Given the description of an element on the screen output the (x, y) to click on. 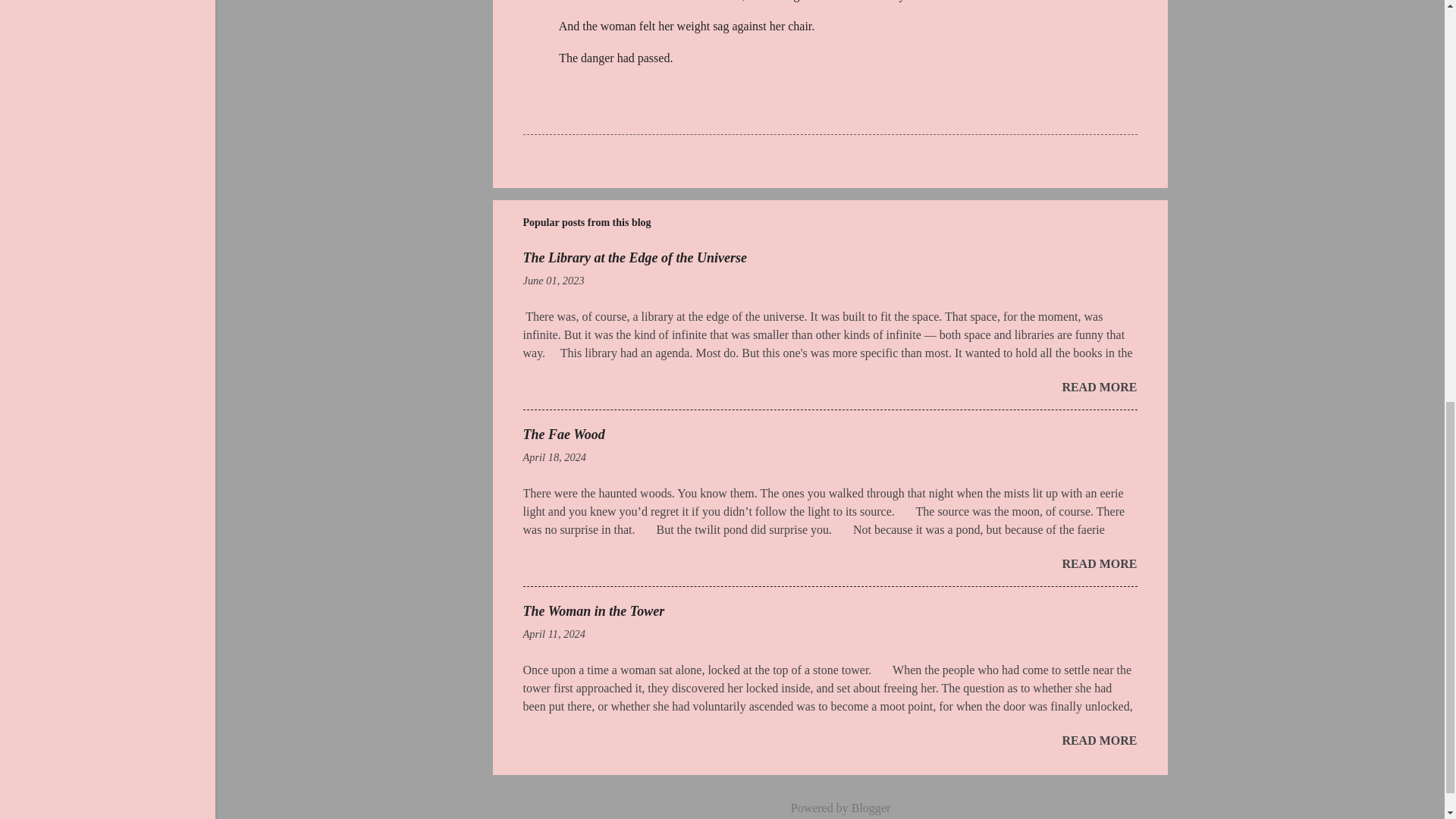
permanent link (553, 280)
Powered by Blogger (830, 807)
READ MORE (1099, 739)
The Woman in the Tower (593, 611)
The Library at the Edge of the Universe (634, 257)
READ MORE (1099, 386)
The Fae Wood (563, 434)
April 18, 2024 (554, 457)
April 11, 2024 (553, 633)
READ MORE (1099, 563)
June 01, 2023 (553, 280)
